Given the description of an element on the screen output the (x, y) to click on. 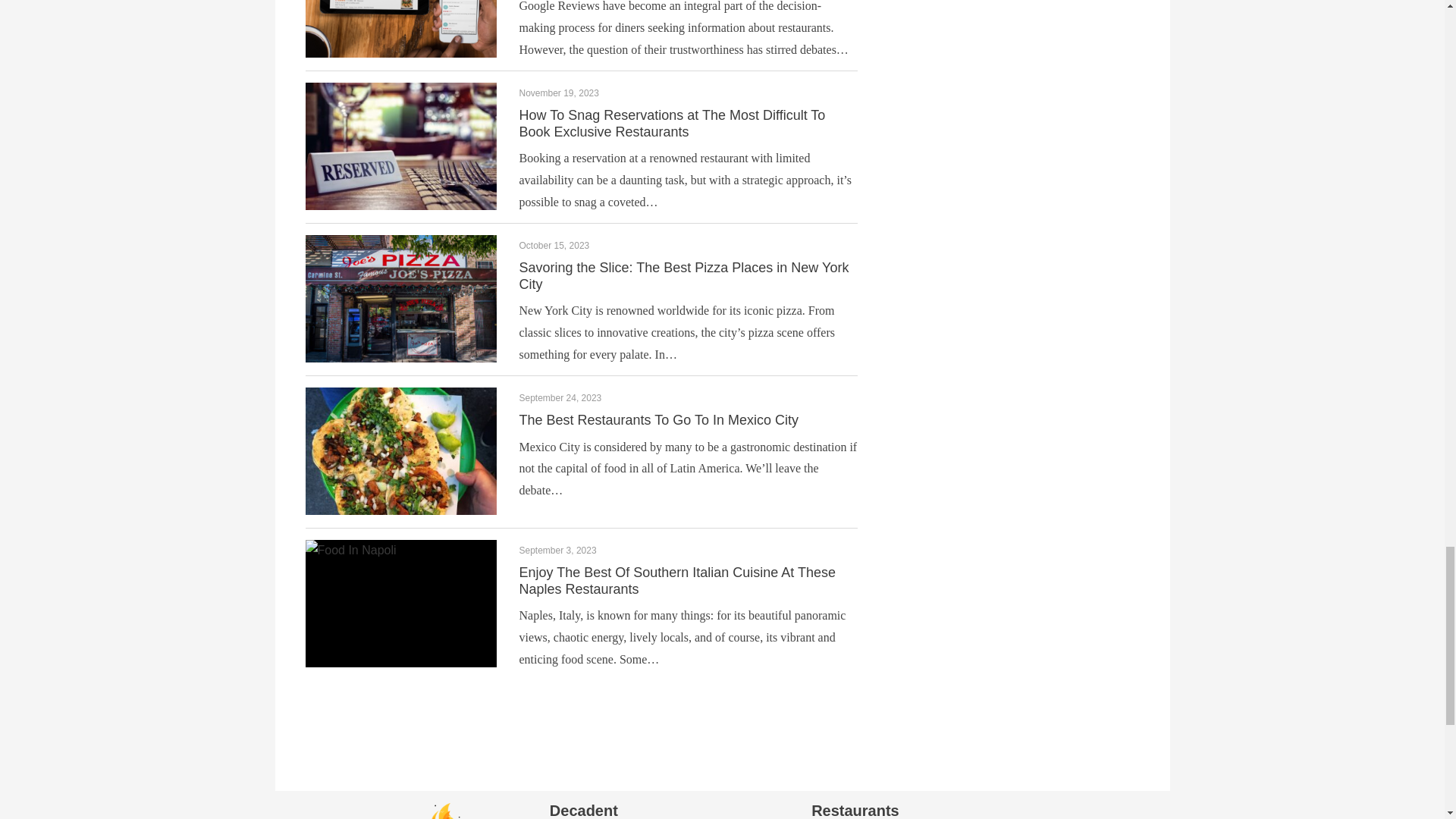
The Best Restaurants To Go To In Mexico City (657, 419)
Savoring the Slice: The Best Pizza Places in New York City (683, 275)
